Given the description of an element on the screen output the (x, y) to click on. 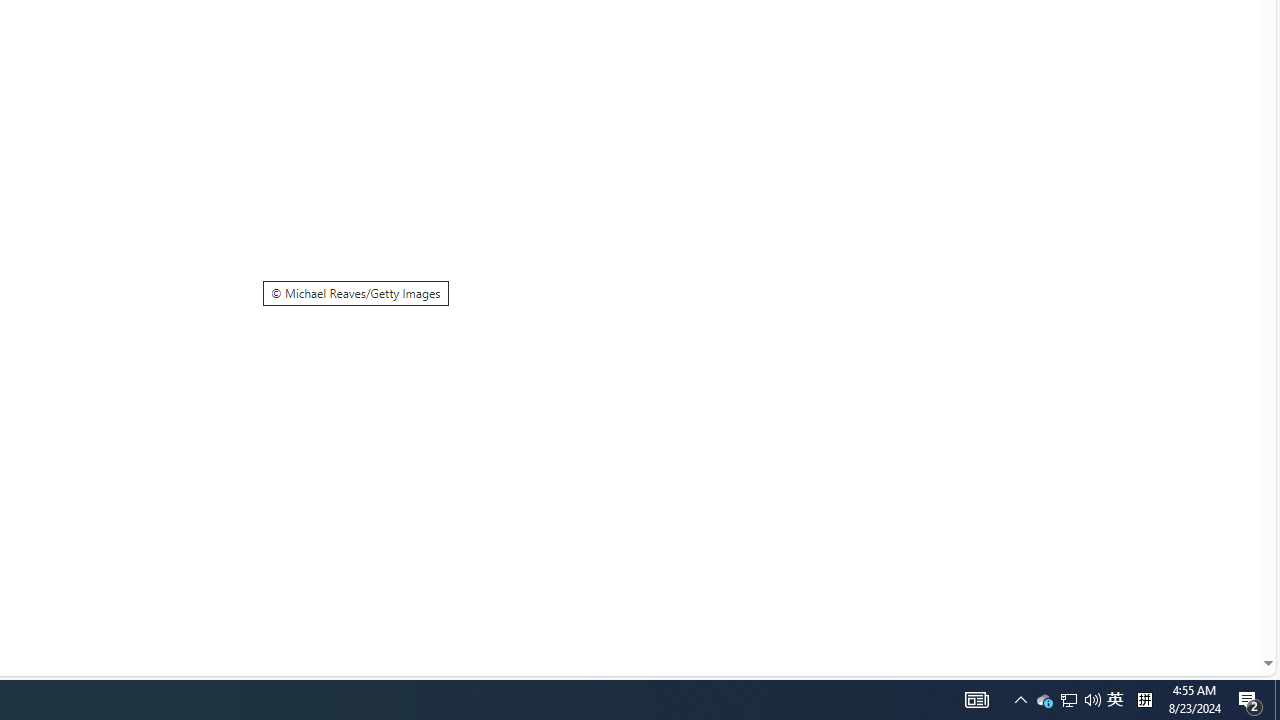
Search more (1222, 604)
AutomationID: mfa_root (1192, 603)
